Given the description of an element on the screen output the (x, y) to click on. 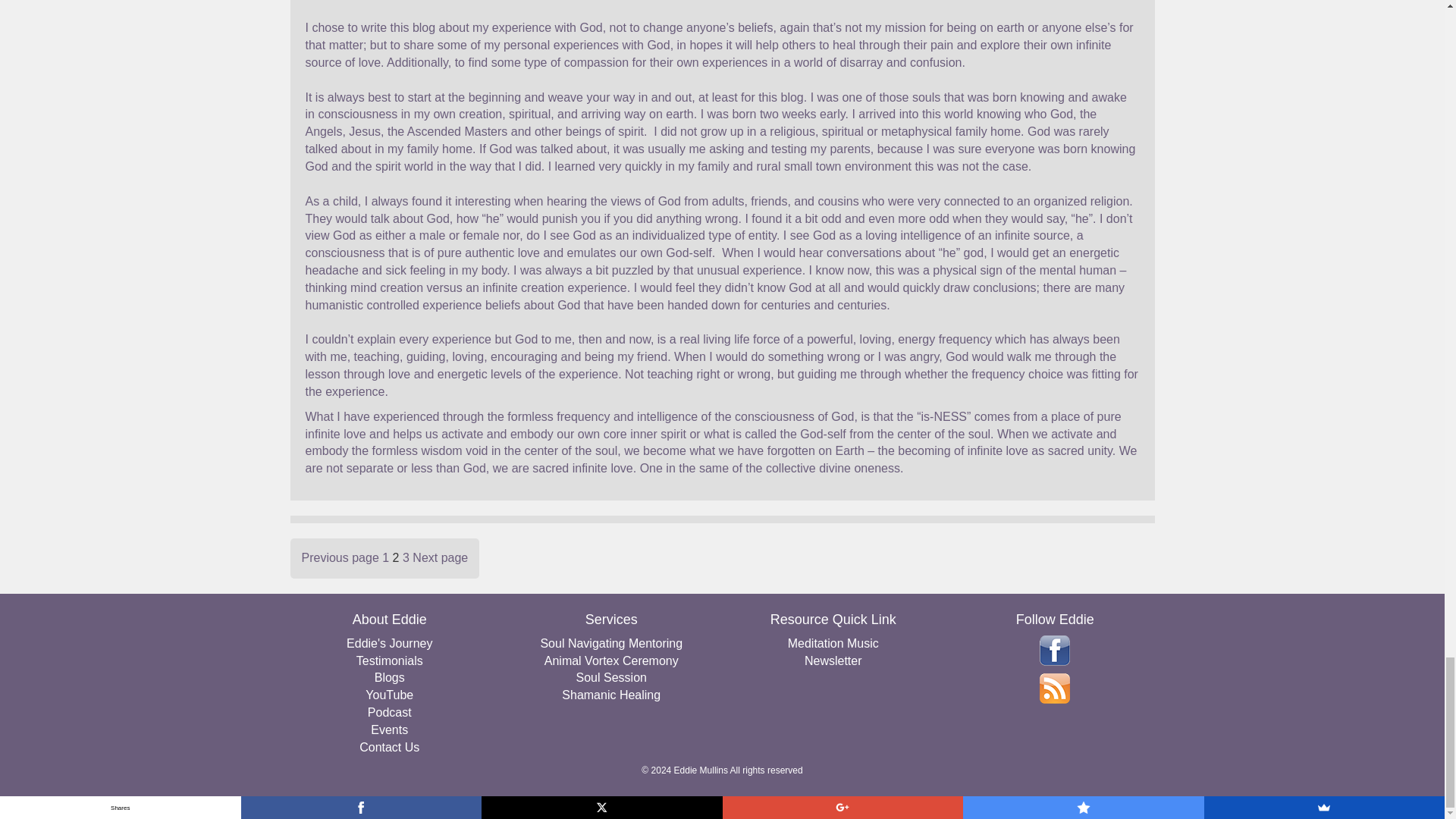
Meditation Music (833, 643)
Animal Vortex Ceremony (611, 661)
Contact Us (389, 747)
Podcast (389, 712)
Events (389, 730)
Testimonials (389, 661)
Link to Facebook (1054, 650)
Soul Navigating Mentoring (611, 643)
Previous page (339, 557)
Next page (439, 557)
Blogs (389, 678)
Soul Session (611, 678)
Eddie's Journey (389, 643)
Shamanic Healing (611, 695)
Link to RSS Feed (1054, 688)
